Given the description of an element on the screen output the (x, y) to click on. 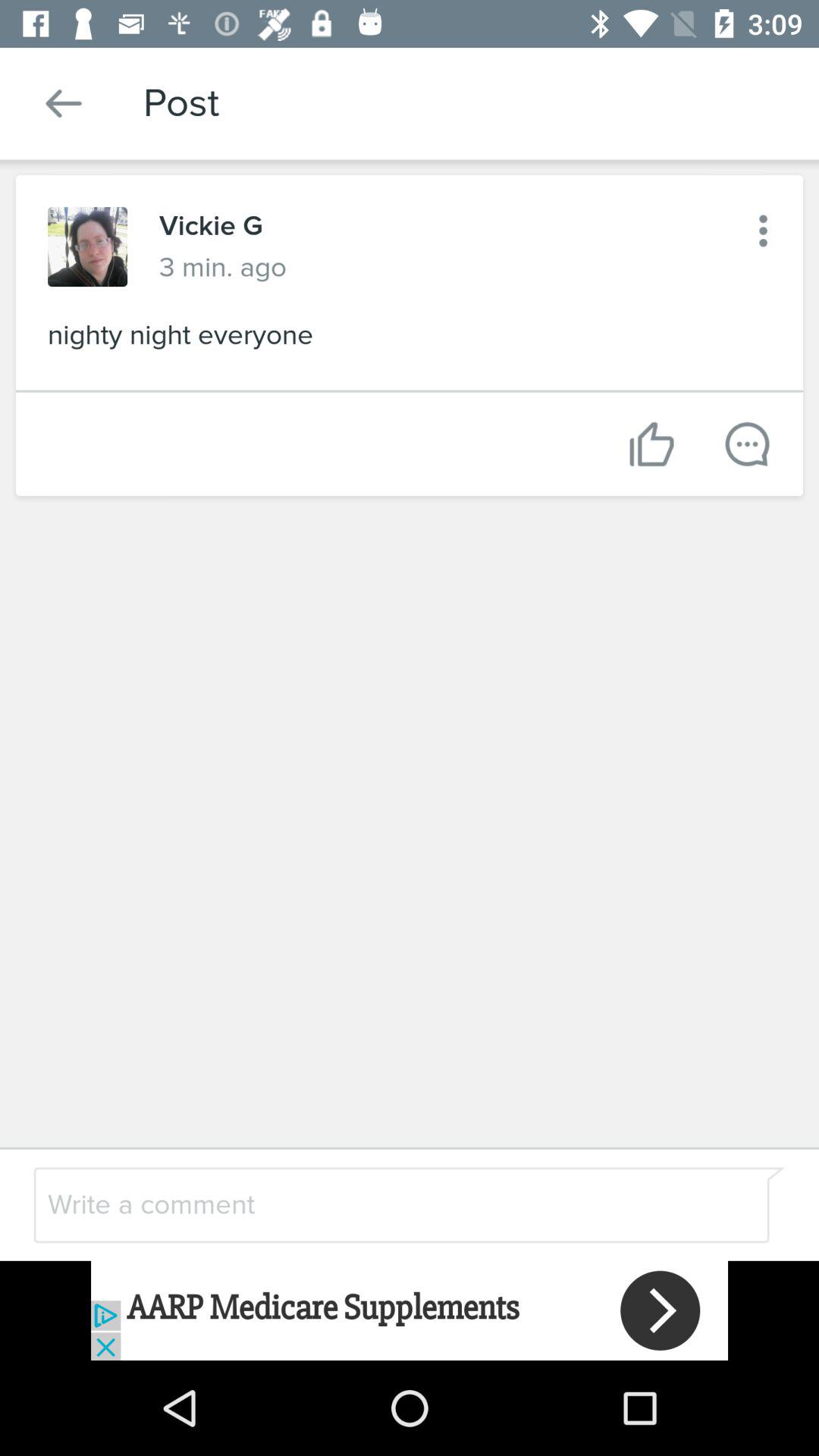
shows the menu option (763, 230)
